Given the description of an element on the screen output the (x, y) to click on. 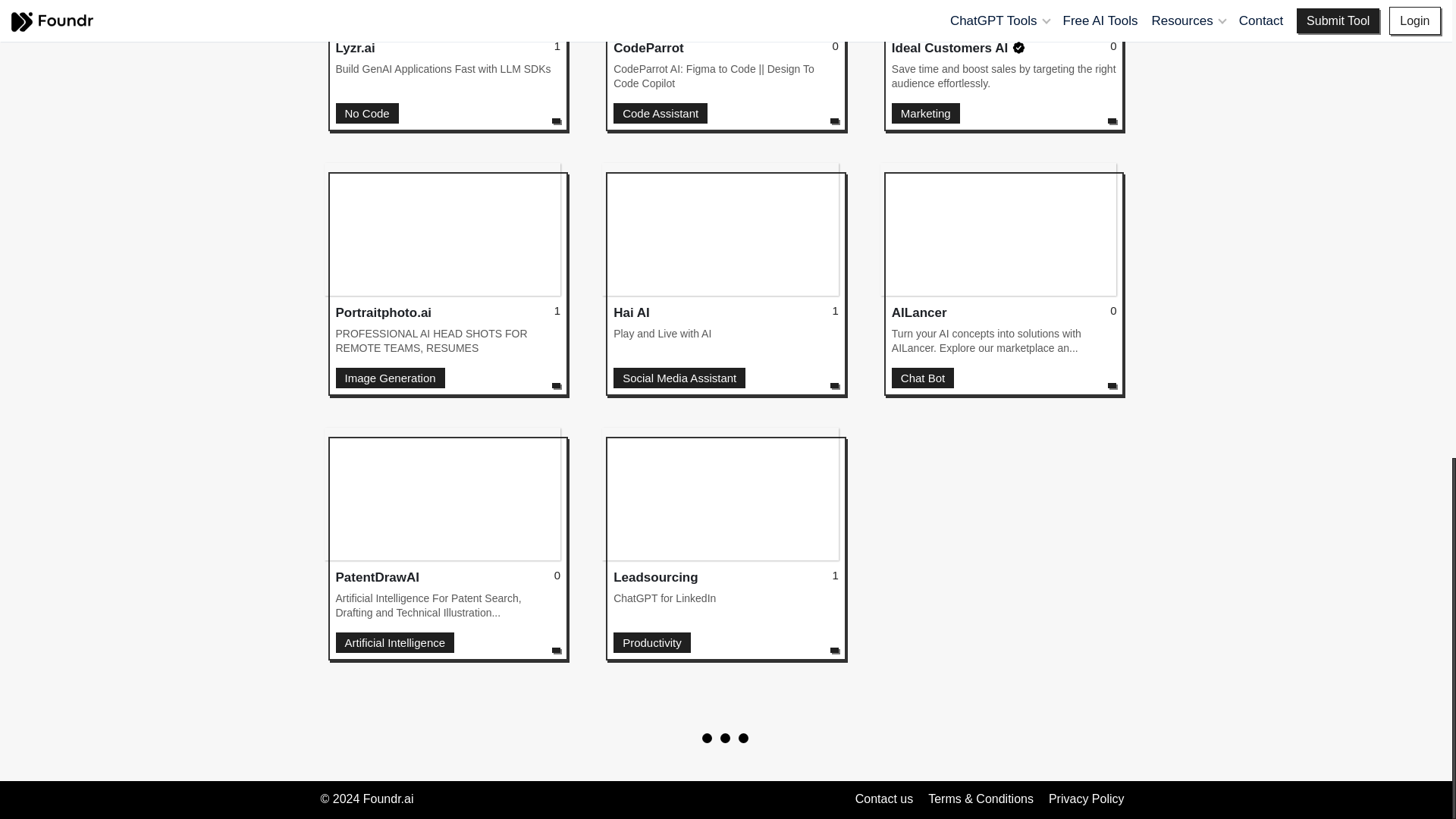
Verified (447, 44)
